Given the description of an element on the screen output the (x, y) to click on. 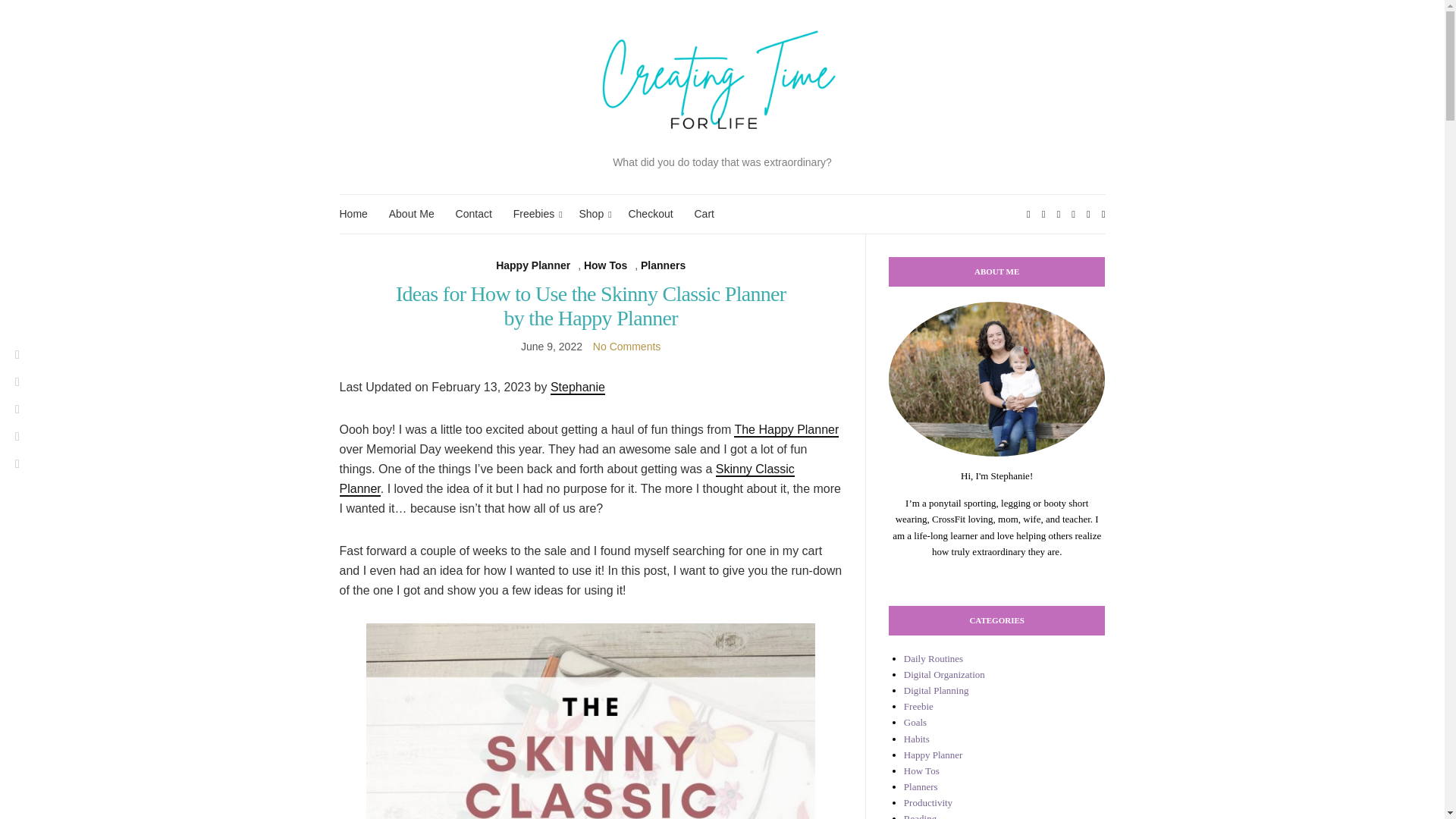
Cart (704, 213)
Shop (592, 213)
Checkout (649, 213)
Home (353, 213)
Contact (473, 213)
Freebies (535, 213)
About Me (410, 213)
